Given the description of an element on the screen output the (x, y) to click on. 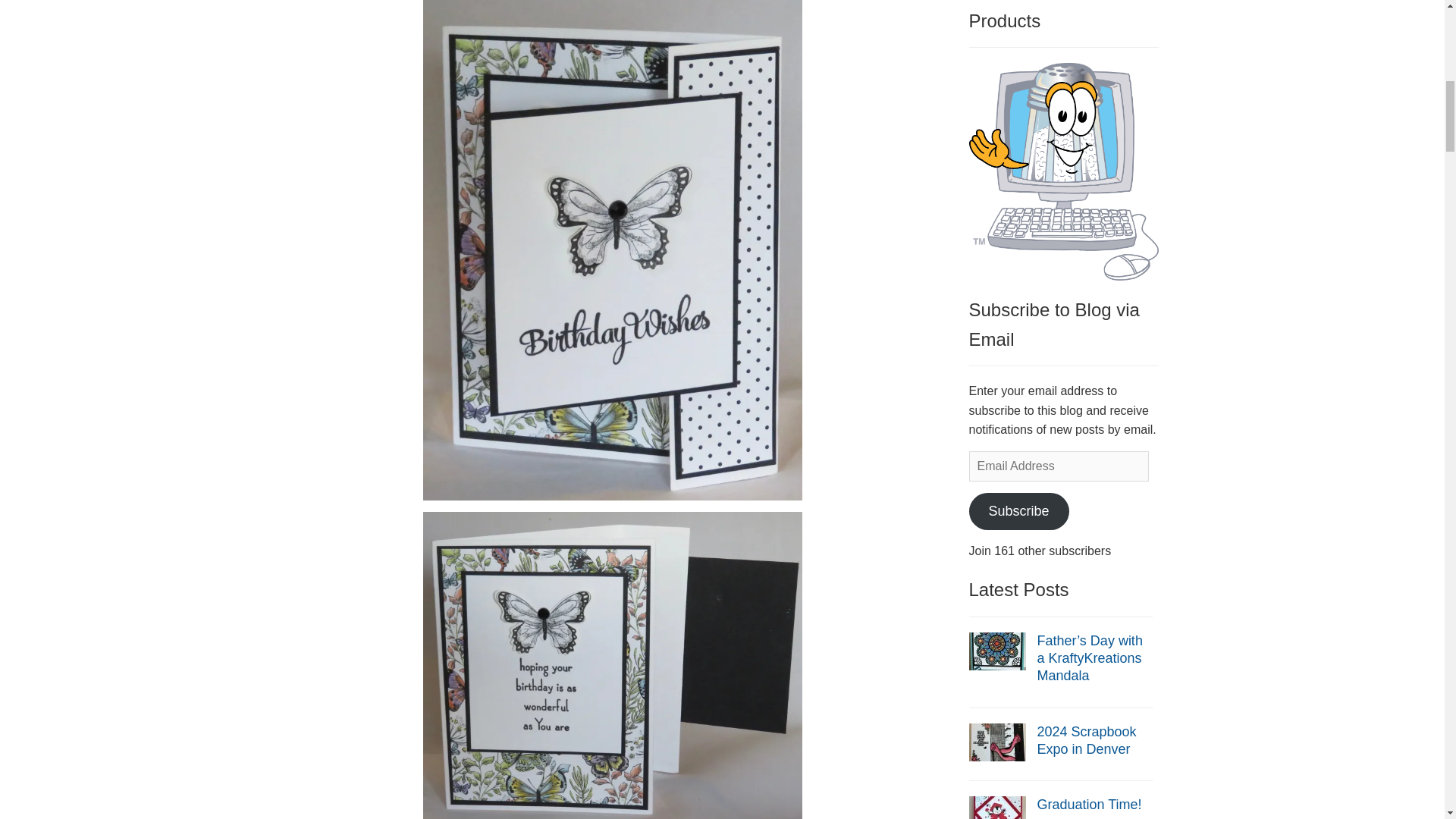
Permanent Link to Graduation Time! (997, 813)
Permanent Link to 2024 Scrapbook Expo in Denver (997, 740)
